Given the description of an element on the screen output the (x, y) to click on. 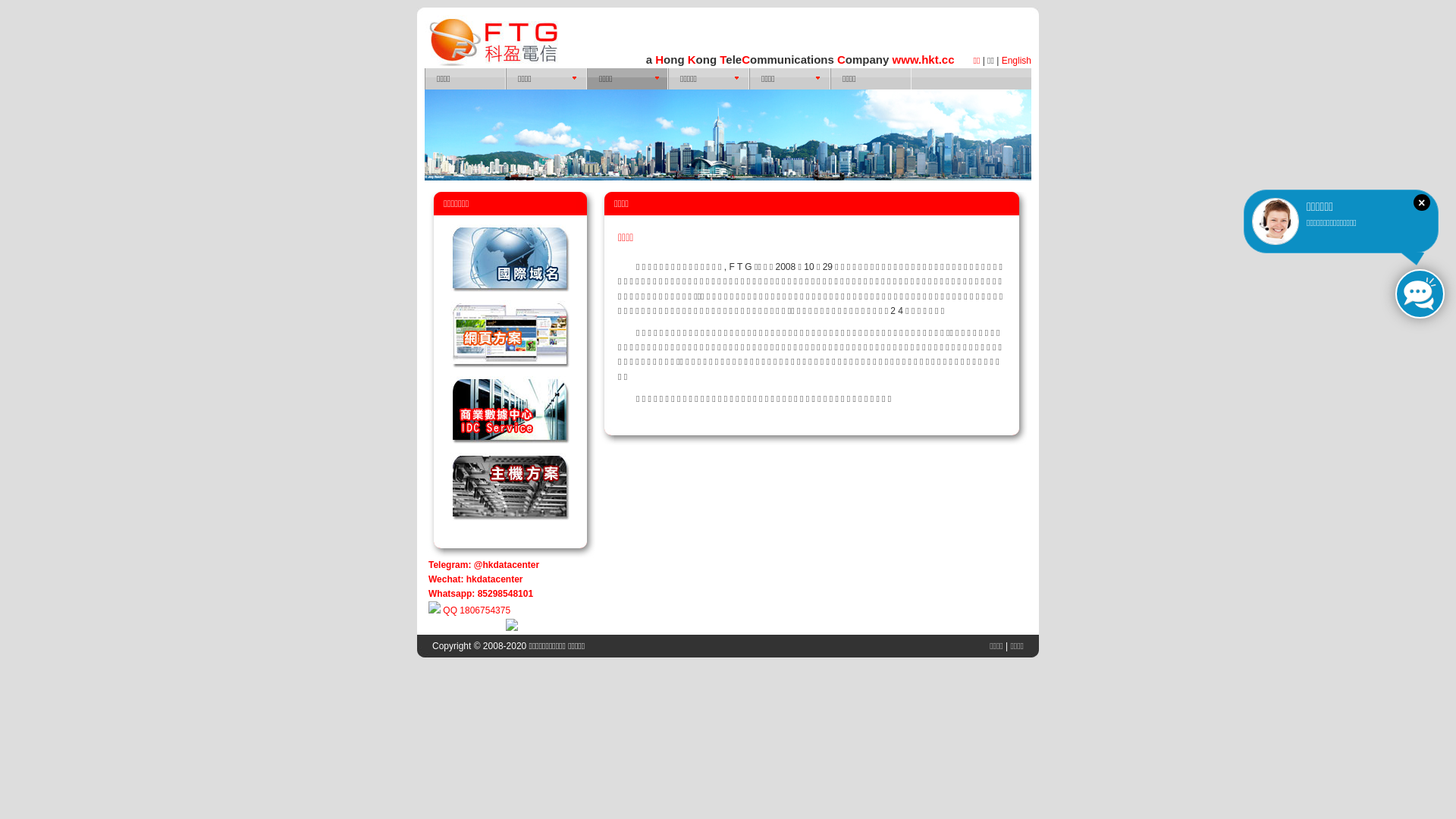
English Element type: text (1016, 60)
QQ 1806754375 Element type: text (469, 610)
